Given the description of an element on the screen output the (x, y) to click on. 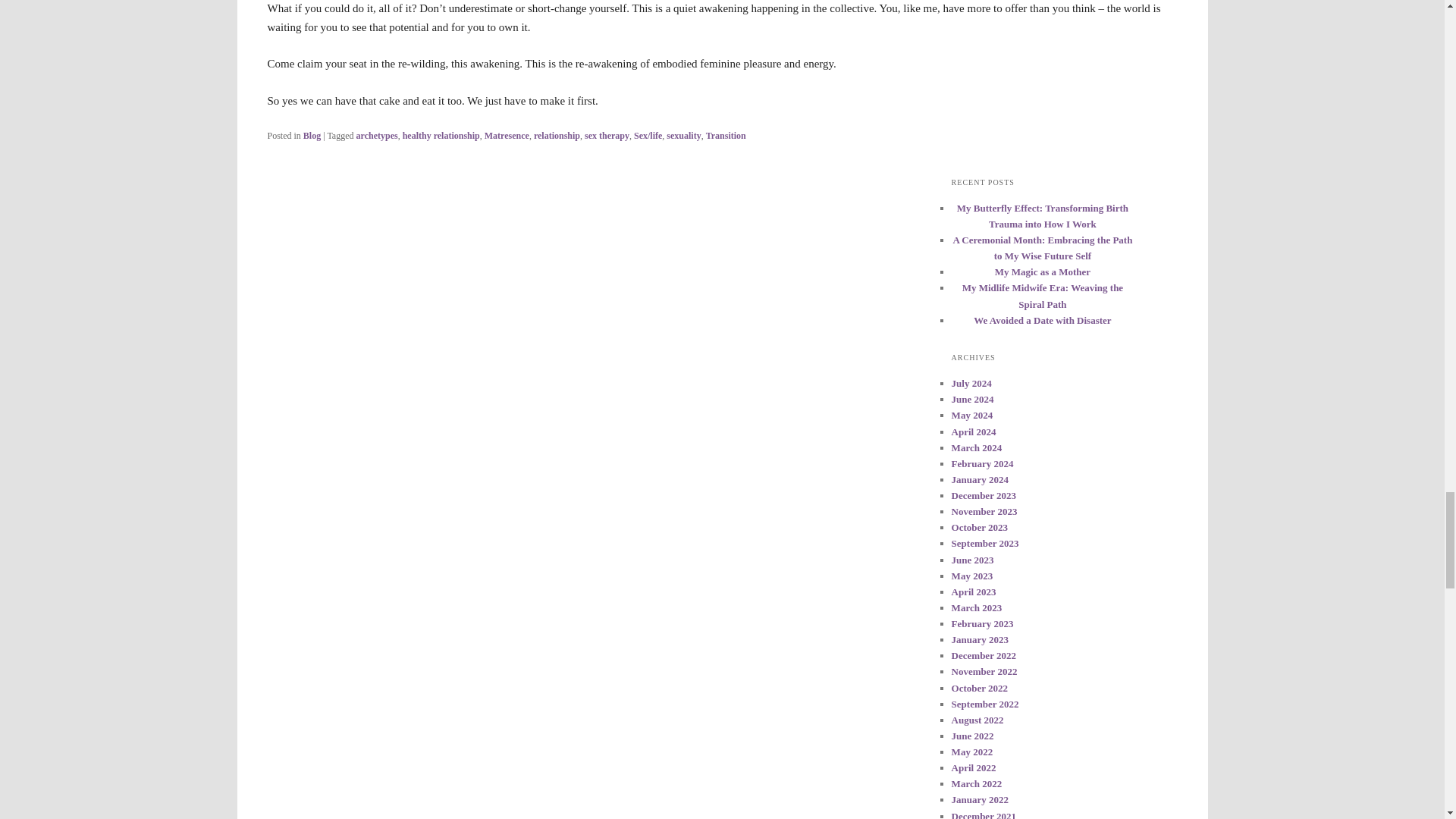
relationship (556, 135)
Matresence (506, 135)
healthy relationship (441, 135)
archetypes (376, 135)
Blog (311, 135)
